Given the description of an element on the screen output the (x, y) to click on. 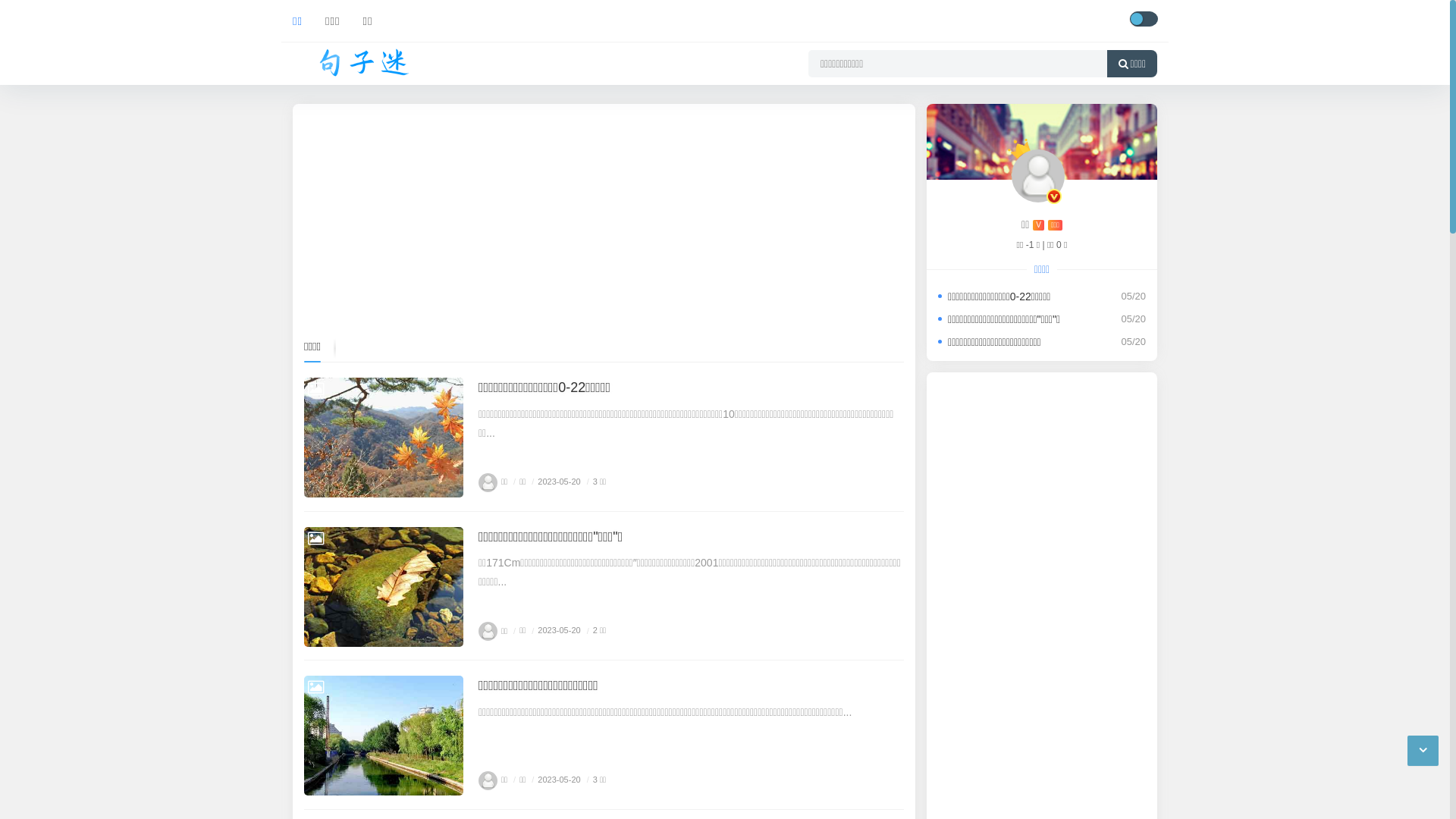
Advertisement Element type: hover (603, 221)
